Given the description of an element on the screen output the (x, y) to click on. 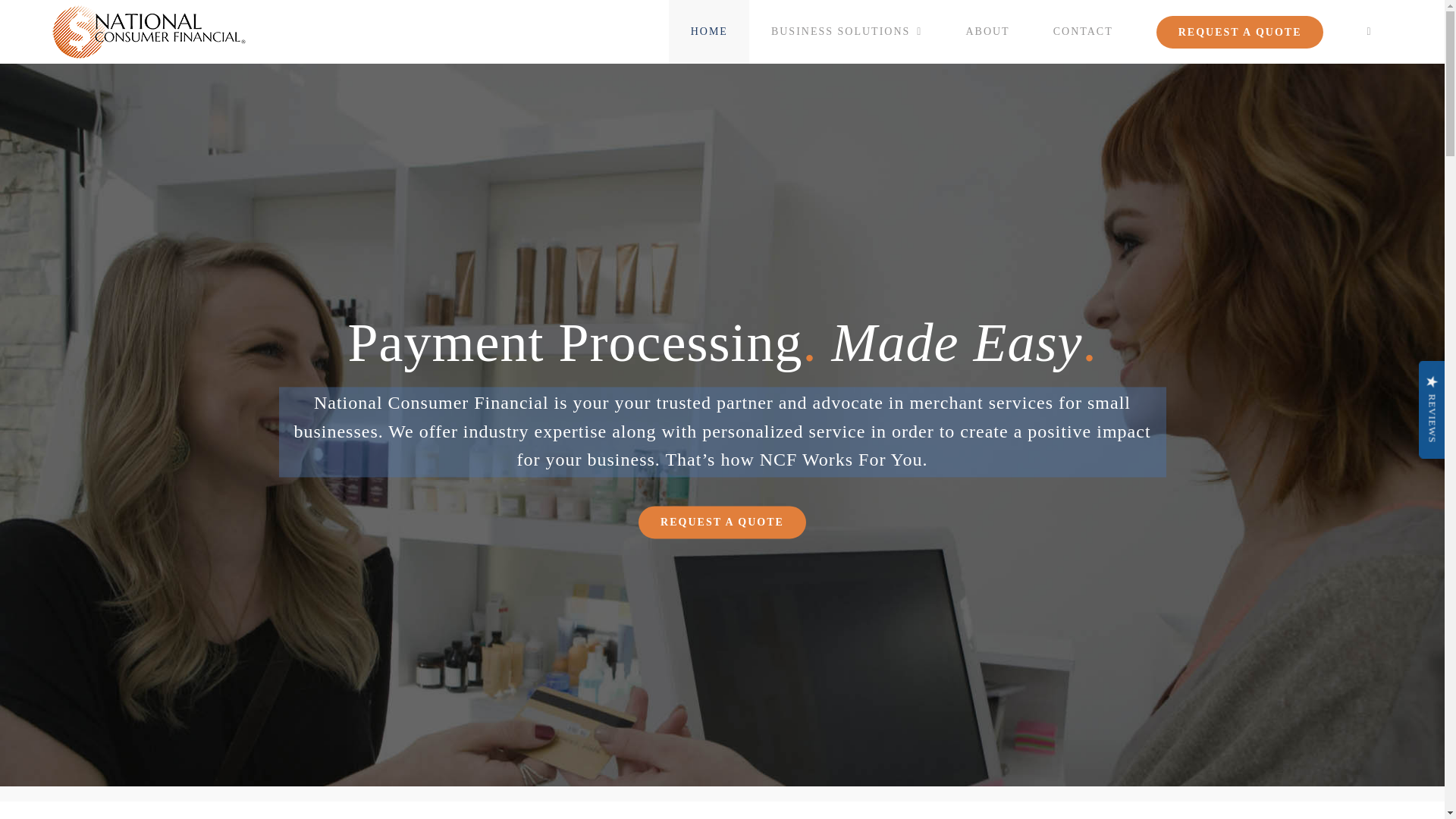
ABOUT (986, 31)
Get in Touch (722, 522)
HOME (708, 31)
REQUEST A QUOTE (722, 522)
CONTACT (1082, 31)
BUSINESS SOLUTIONS (846, 31)
REQUEST A QUOTE (1239, 31)
